Given the description of an element on the screen output the (x, y) to click on. 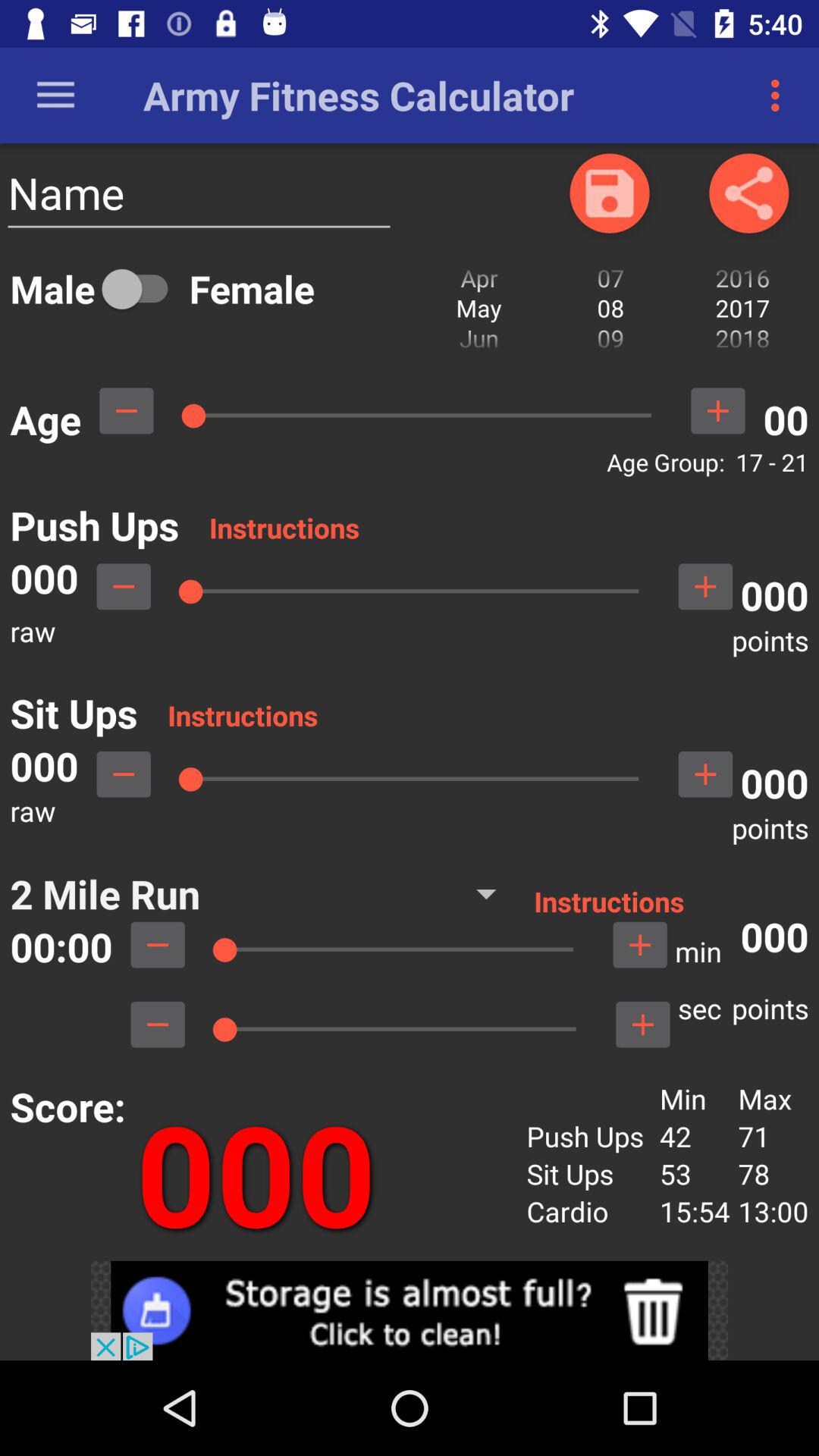
subrtact points (123, 774)
